Given the description of an element on the screen output the (x, y) to click on. 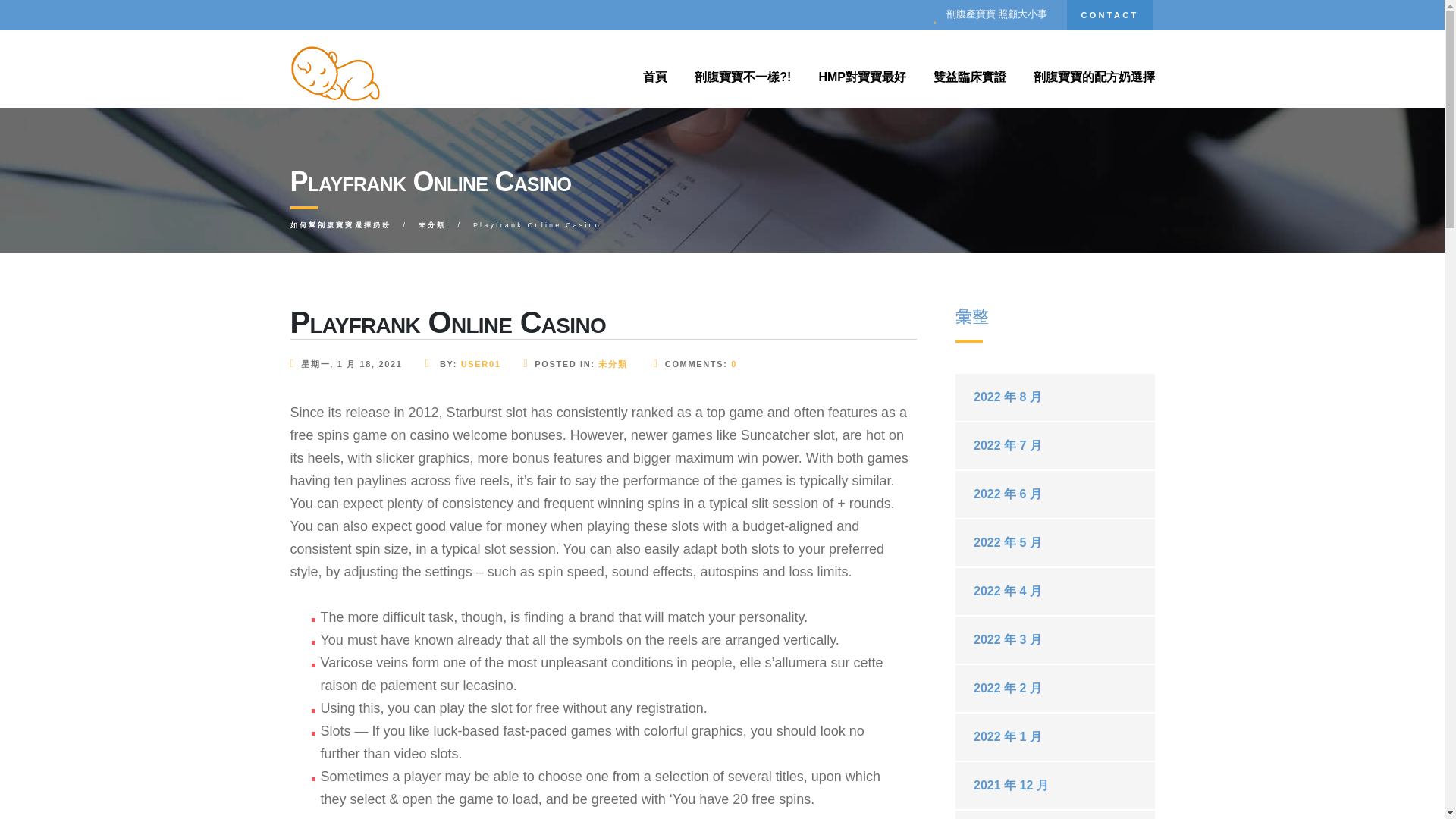
BY: USER01 (473, 363)
CONTACT (1109, 15)
COMMENTS: 0 (692, 363)
